Given the description of an element on the screen output the (x, y) to click on. 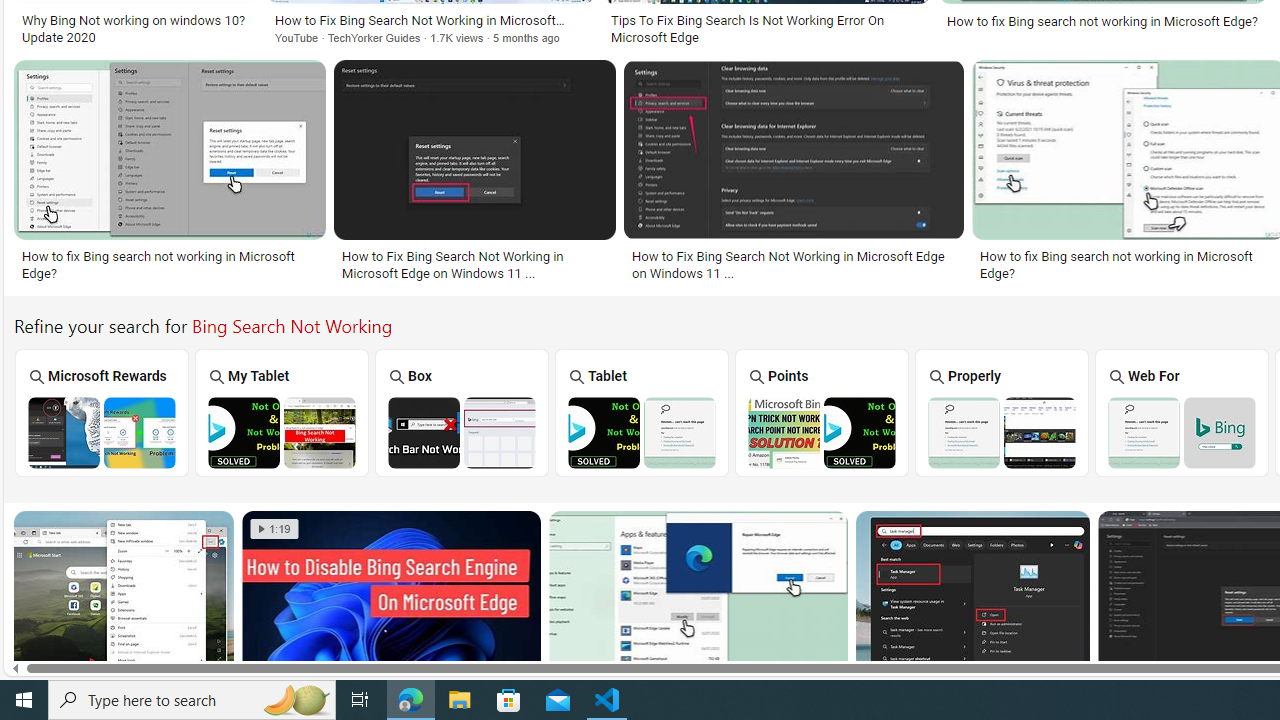
Web For (1181, 412)
Box (461, 412)
Why Bing Not working on windows 10? Update 2020 (135, 29)
Points (821, 412)
Bing Tablet Search Not Working (641, 432)
My Tablet (281, 412)
